Given the description of an element on the screen output the (x, y) to click on. 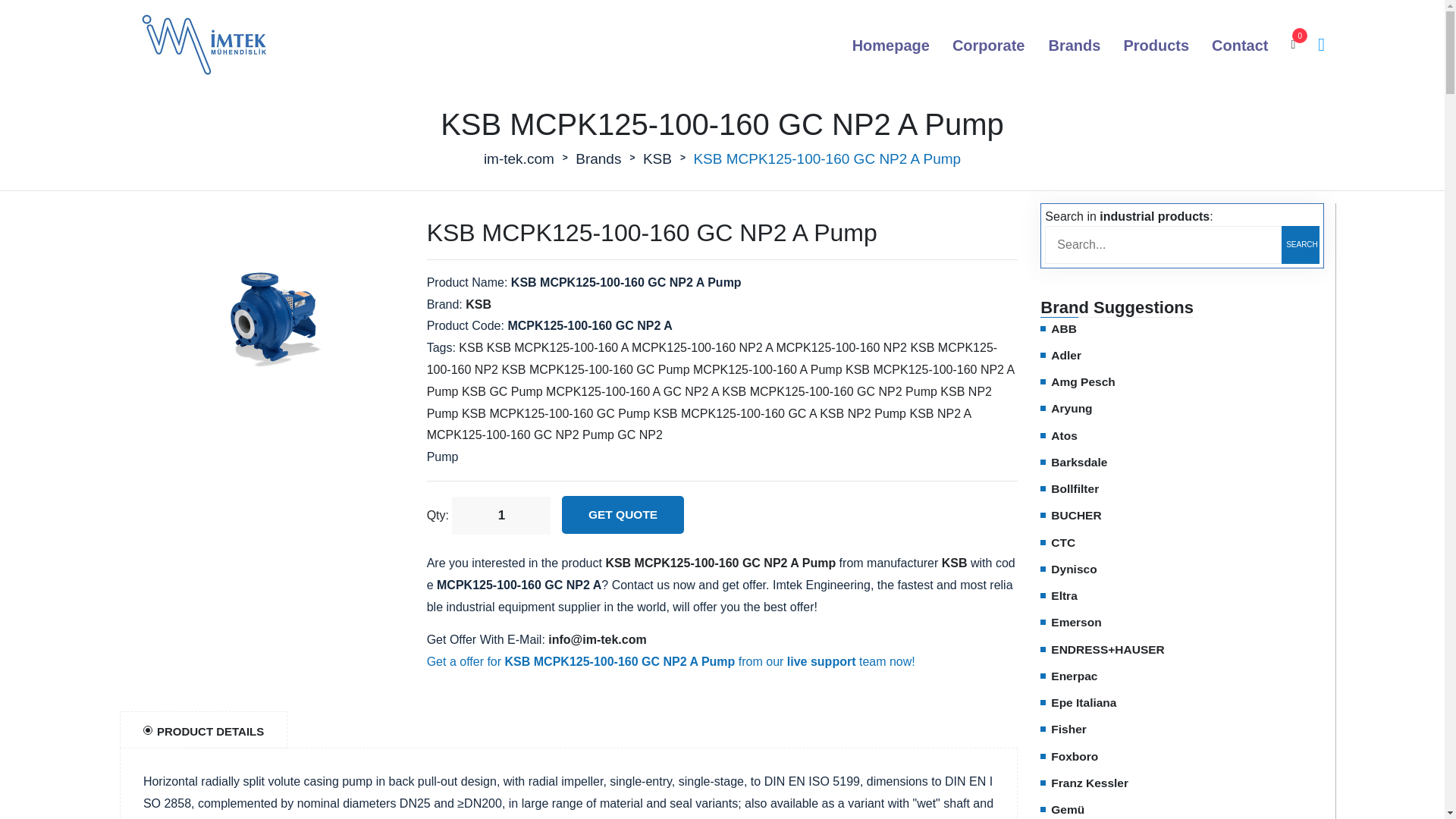
KSB GC Pump (502, 391)
Brands (1074, 45)
GC NP2 A (691, 391)
KSB (657, 159)
KSB NP2 Pump (862, 413)
MCPK125-100-160 A Pump (768, 369)
KSB MCPK125-100-160 GC NP2 Pump (829, 391)
MCPK125-100-160 NP2 (841, 347)
